Given the description of an element on the screen output the (x, y) to click on. 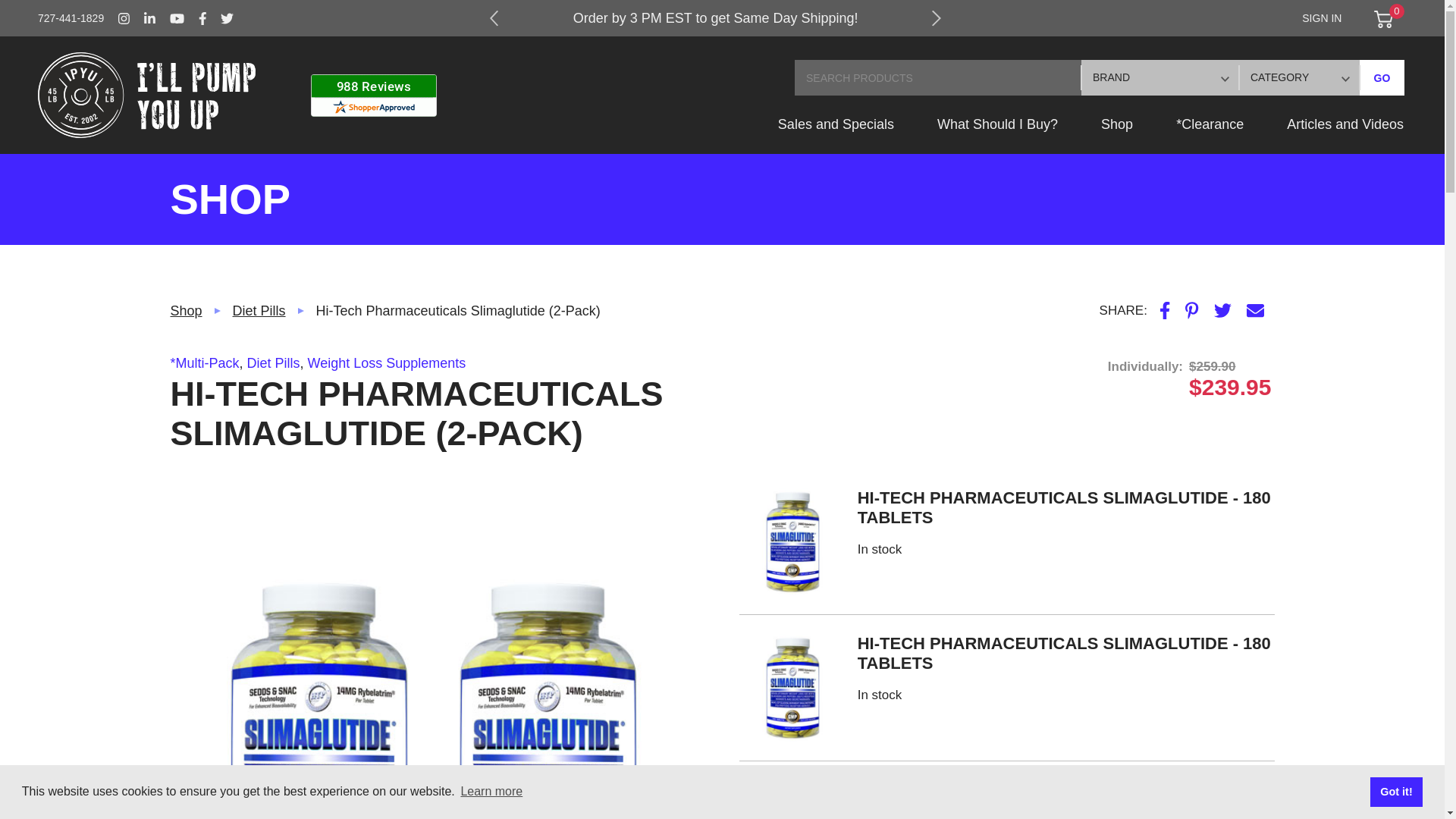
Shop (1117, 133)
1 (762, 808)
GO (1382, 77)
Sales and Specials (836, 133)
727-441-1829 (71, 18)
GO (1382, 77)
Got it! (1396, 791)
hi-tech-slimaglutide (791, 687)
Learn more (491, 791)
SIGN IN (1320, 18)
